Given the description of an element on the screen output the (x, y) to click on. 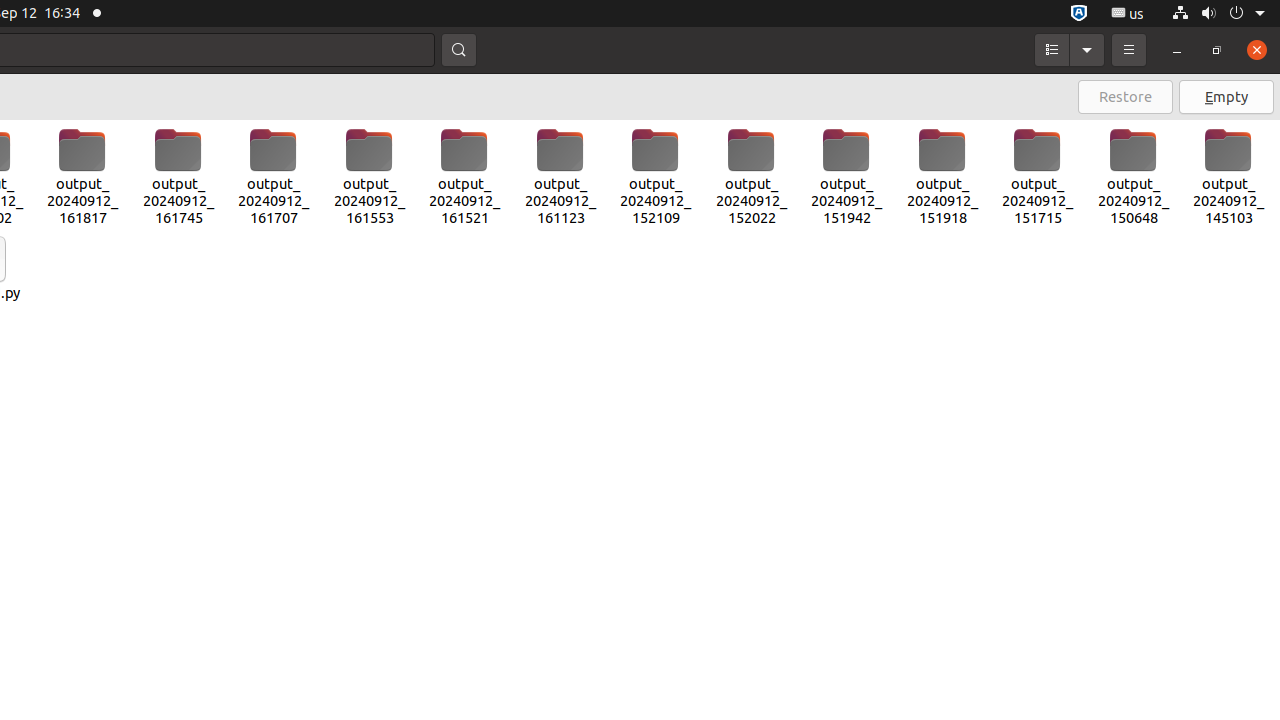
output_20240912_161123 Element type: canvas (560, 177)
output_20240912_151918 Element type: canvas (942, 177)
output_20240912_151942 Element type: canvas (847, 177)
output_20240912_145103 Element type: canvas (1229, 177)
output_20240912_161521 Element type: canvas (464, 177)
